Given the description of an element on the screen output the (x, y) to click on. 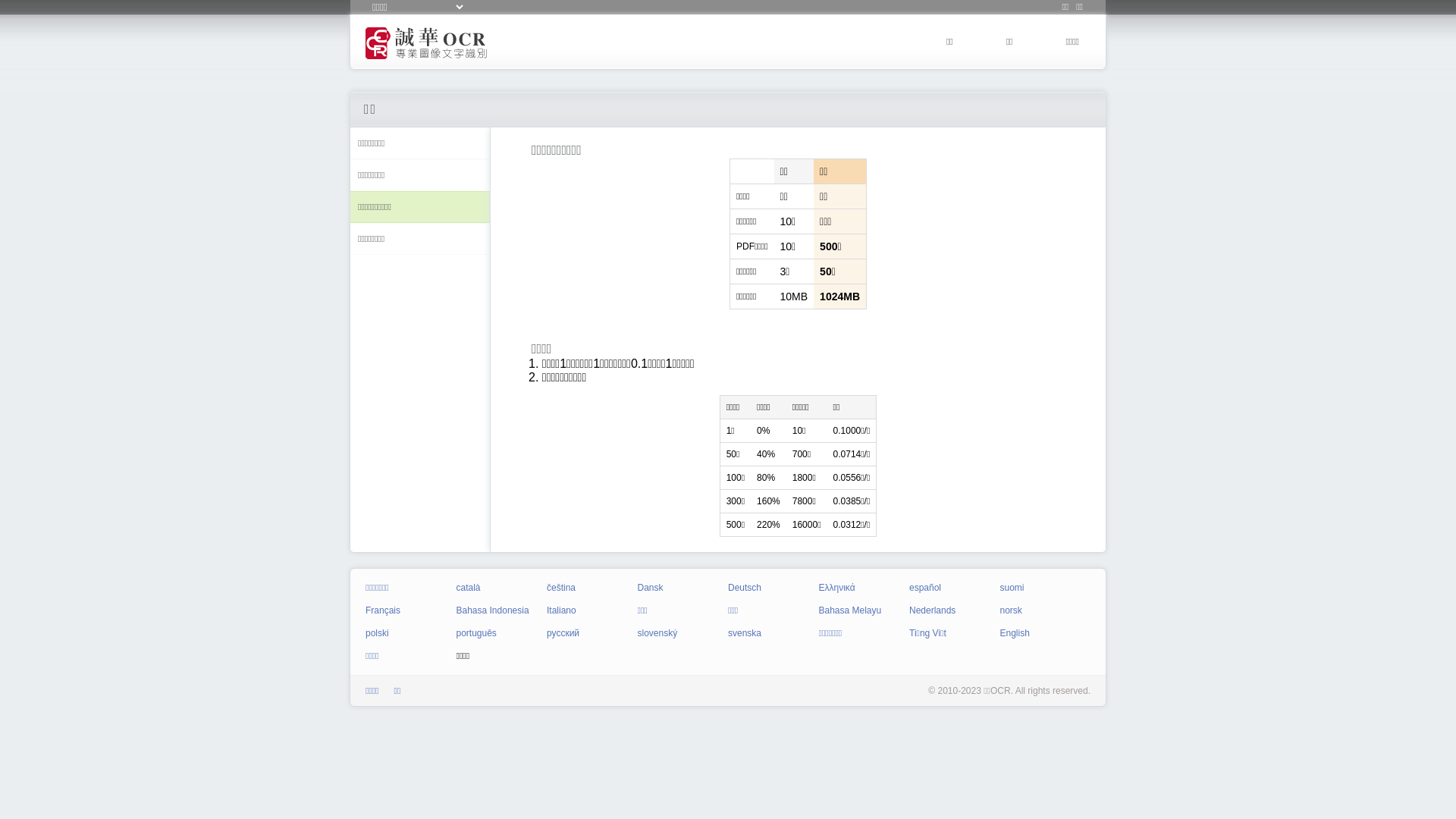
polski Element type: text (377, 632)
English Element type: text (1014, 632)
Nederlands Element type: text (932, 610)
svenska Element type: text (744, 632)
suomi Element type: text (1011, 587)
norsk Element type: text (1010, 610)
Bahasa Melayu Element type: text (850, 610)
Deutsch Element type: text (744, 587)
Italiano Element type: text (561, 610)
Bahasa Indonesia Element type: text (492, 610)
Dansk Element type: text (649, 587)
